Given the description of an element on the screen output the (x, y) to click on. 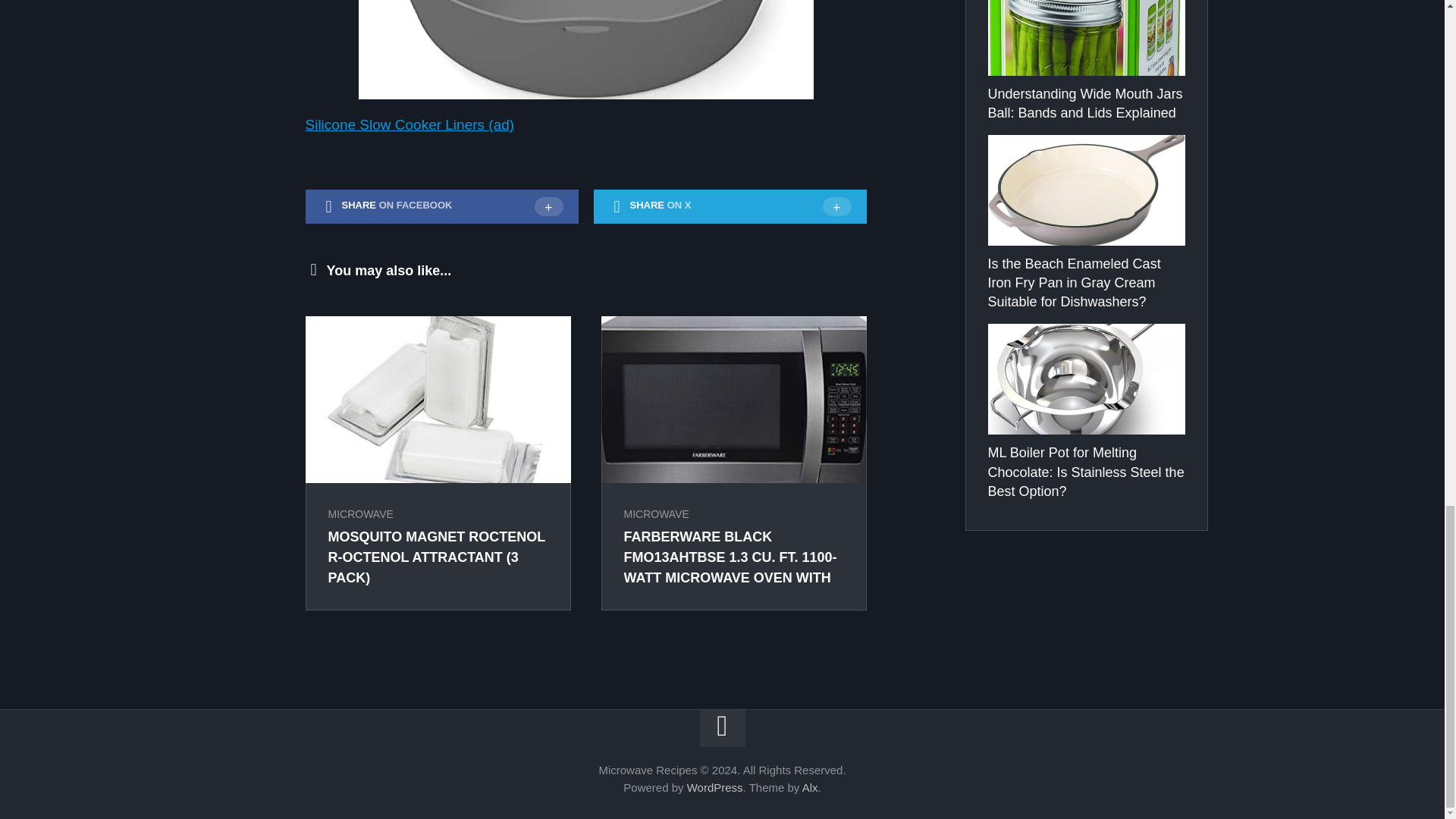
SHARE ON X (729, 206)
MICROWAVE (360, 513)
MICROWAVE (655, 513)
SHARE ON FACEBOOK (441, 206)
Silicone Slow Cooker Liners for Crock-Pot 7 Quart (585, 49)
